Given the description of an element on the screen output the (x, y) to click on. 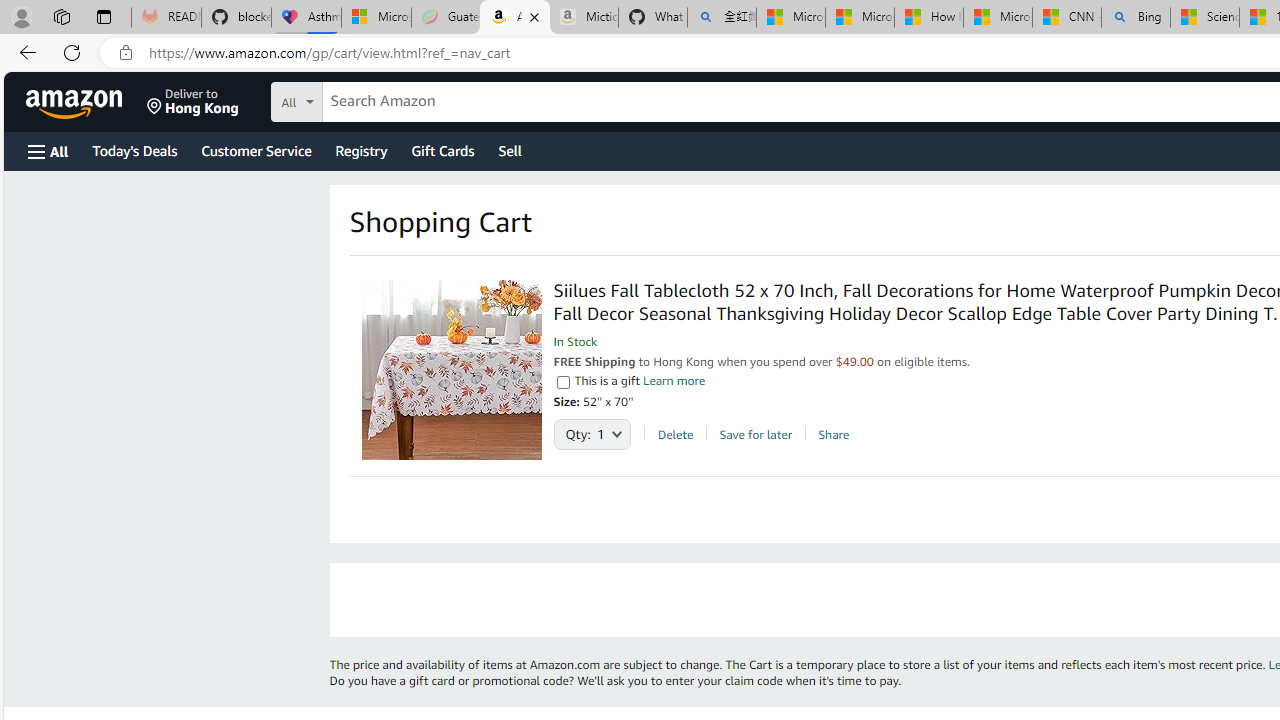
Sell (509, 150)
CNN - MSN (1066, 17)
Microsoft-Report a Concern to Bing (375, 17)
